Given the description of an element on the screen output the (x, y) to click on. 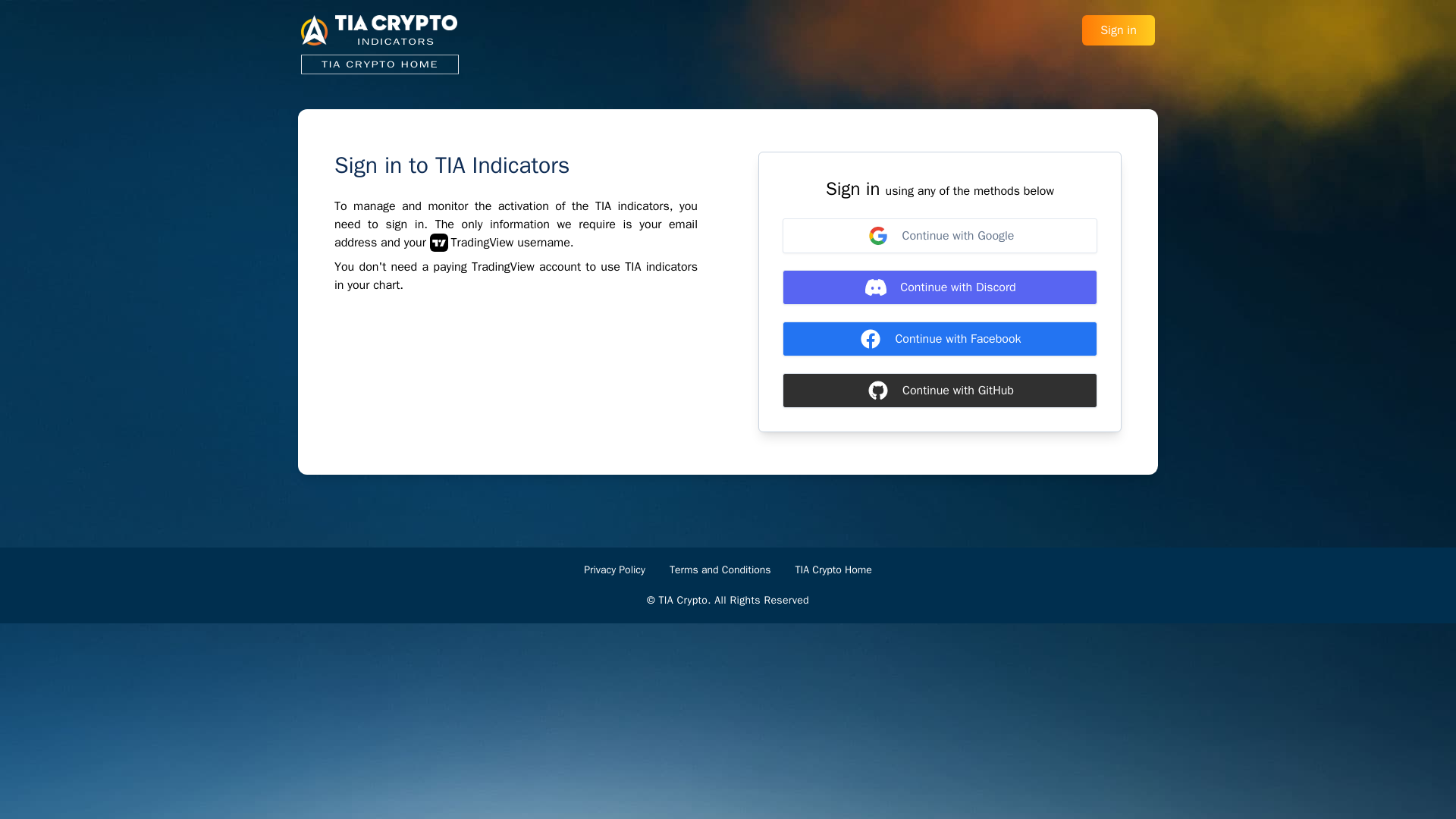
Continue with Discord (939, 287)
Continue with Google (939, 235)
TIA Crypto Home (833, 569)
Continue with Facebook (939, 338)
Sign in (1117, 30)
INDICATORS (379, 30)
TradingView (471, 242)
Privacy Policy (614, 569)
TIA CRYPTO HOME (379, 66)
Terms and Conditions (720, 569)
Continue with GitHub (939, 390)
